Given the description of an element on the screen output the (x, y) to click on. 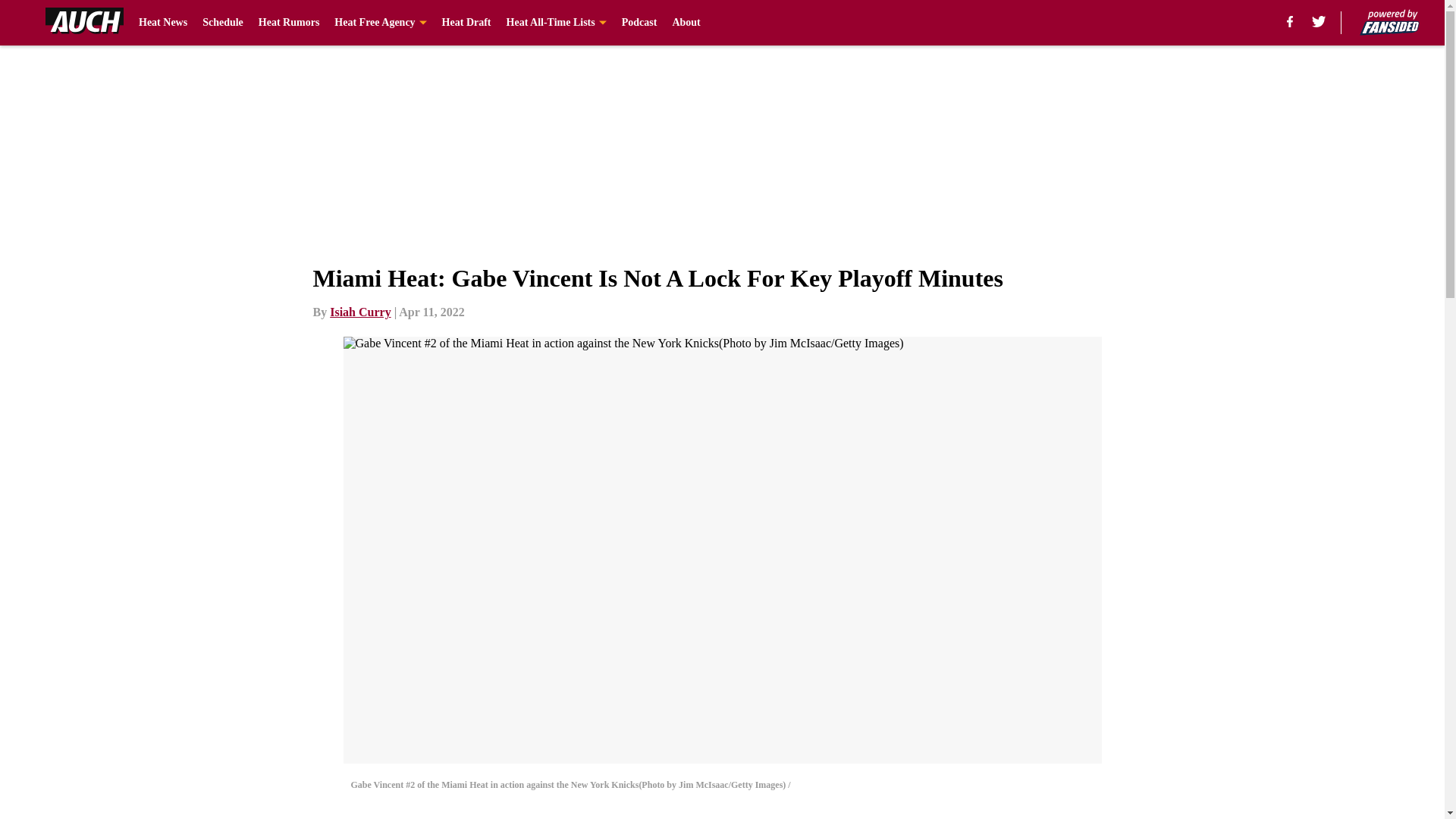
Heat Draft (467, 22)
Heat News (162, 22)
Isiah Curry (360, 311)
Podcast (639, 22)
Heat Rumors (289, 22)
About (685, 22)
Schedule (222, 22)
